Given the description of an element on the screen output the (x, y) to click on. 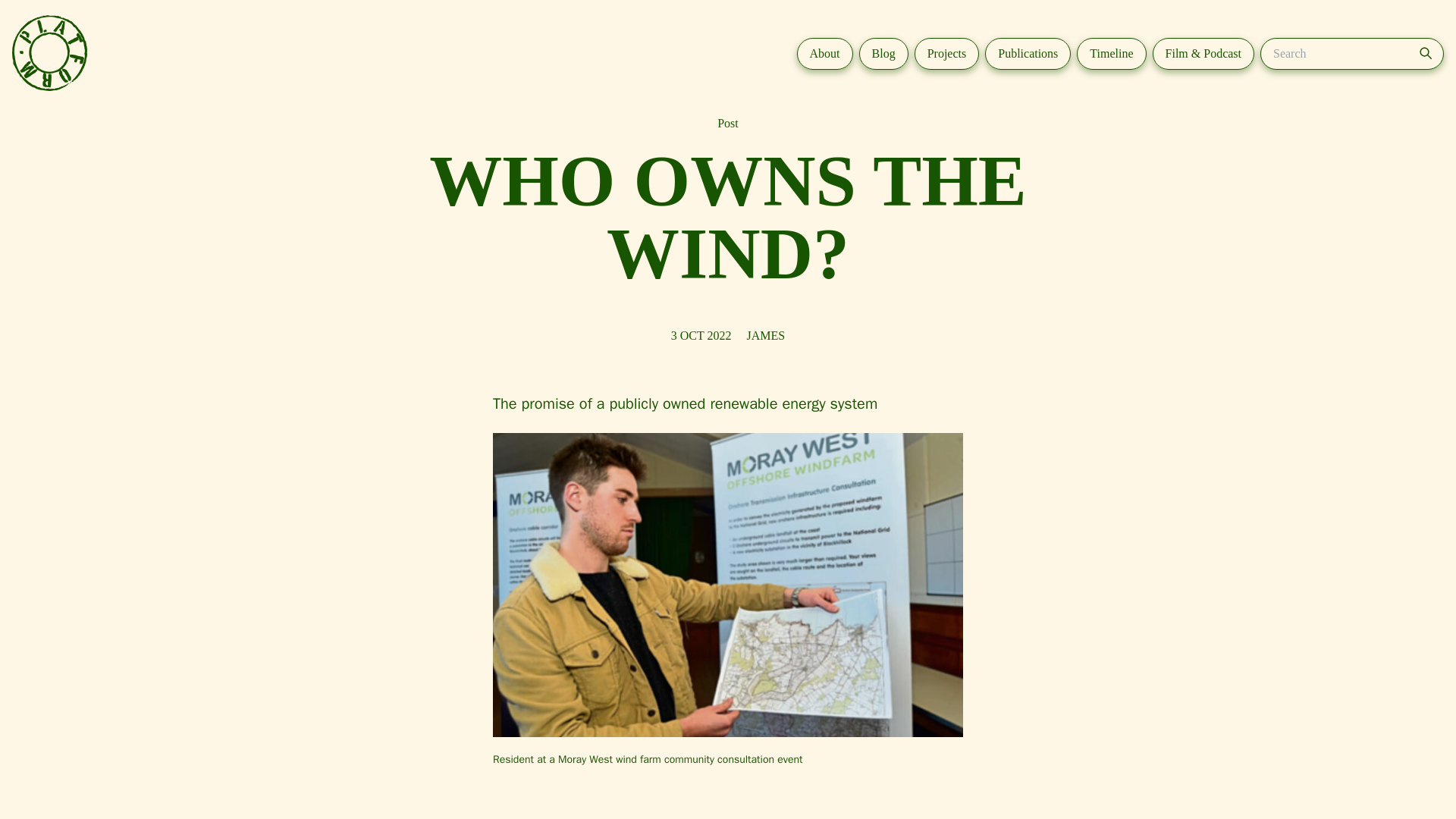
Projects (946, 53)
Publications (1027, 53)
Timeline (1111, 53)
About (824, 53)
JAMES (766, 335)
Blog (883, 53)
